Given the description of an element on the screen output the (x, y) to click on. 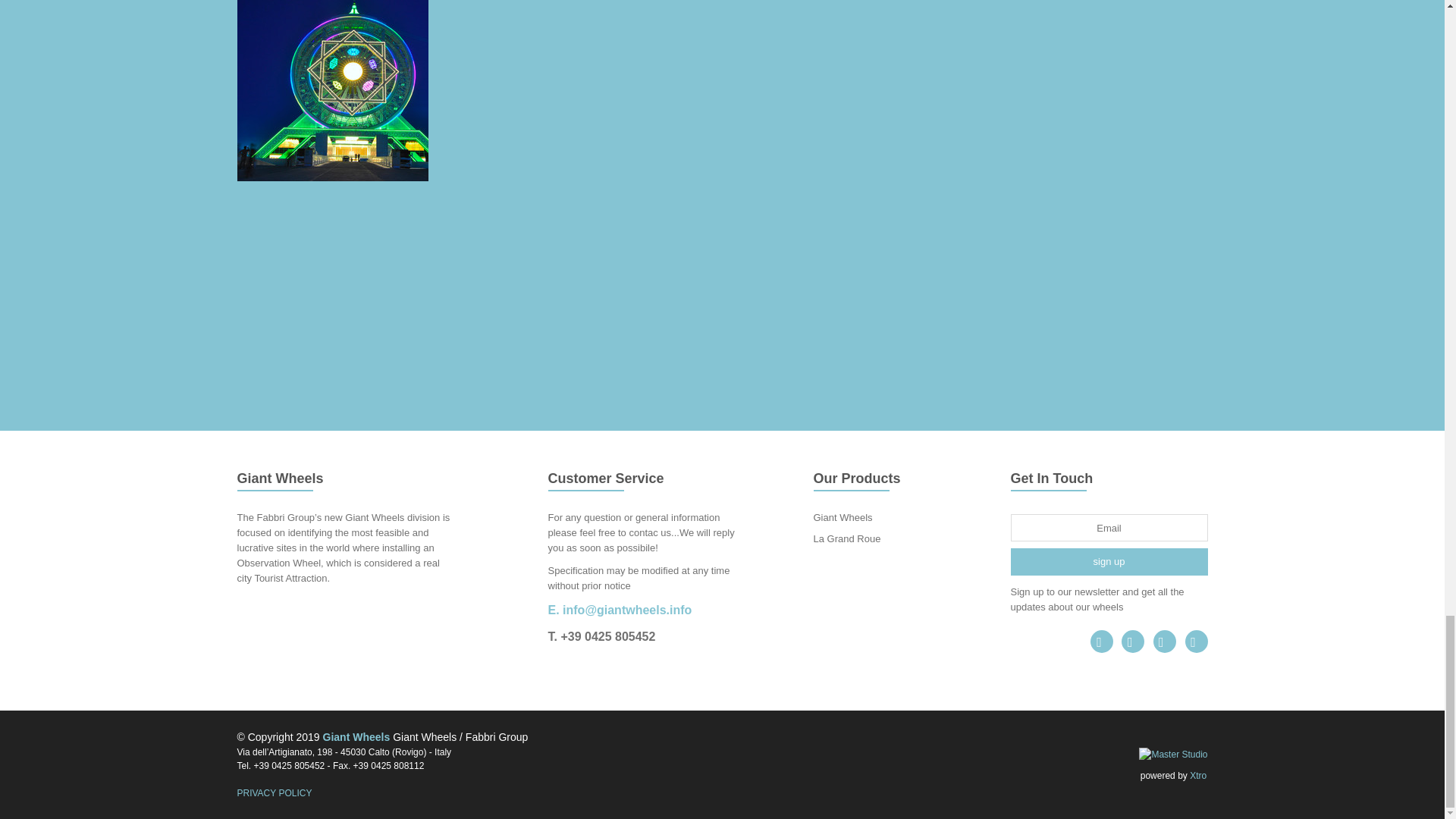
Giant Wheels (842, 517)
